Given the description of an element on the screen output the (x, y) to click on. 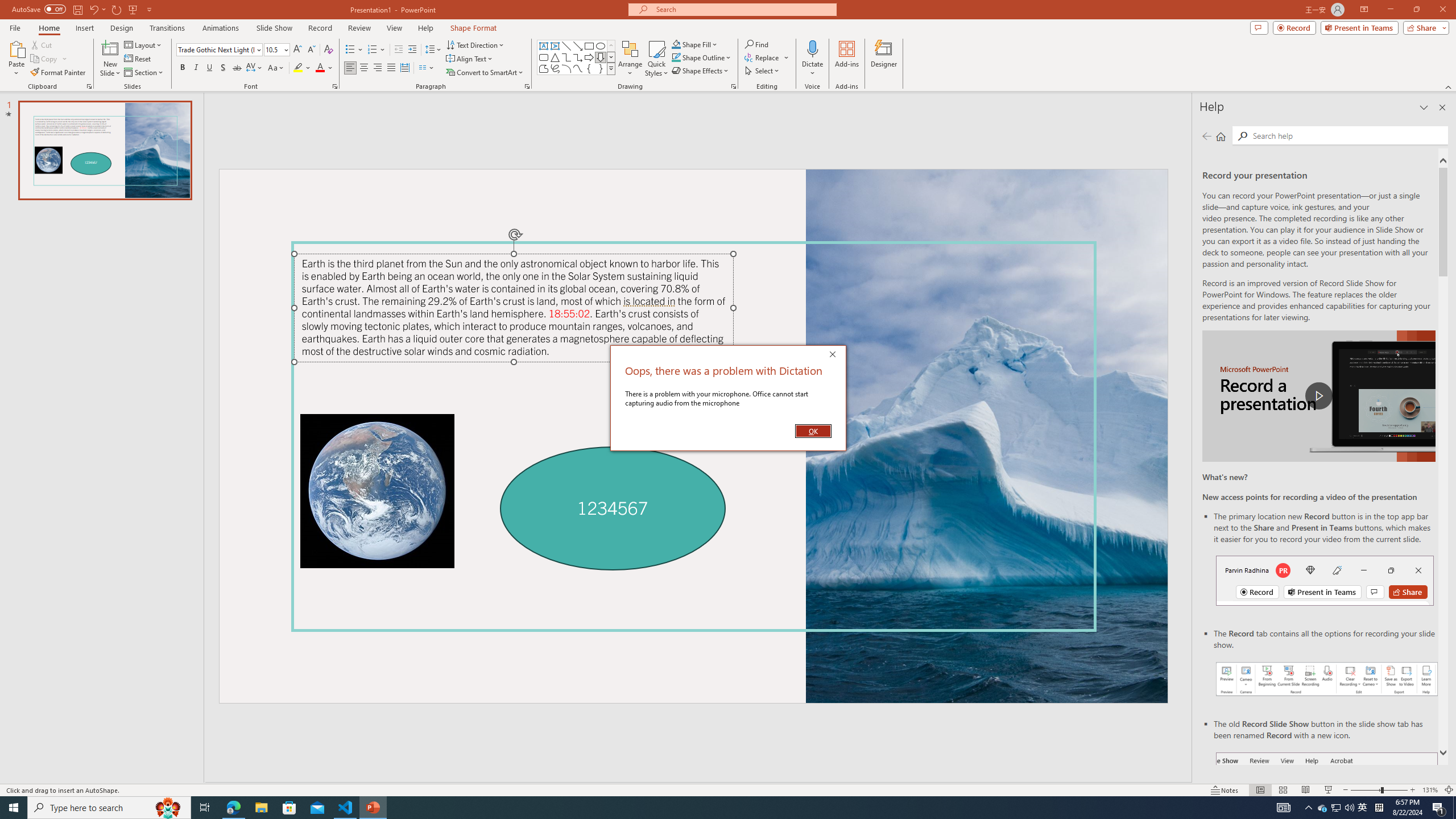
play Record a Presentation (1318, 395)
